Given the description of an element on the screen output the (x, y) to click on. 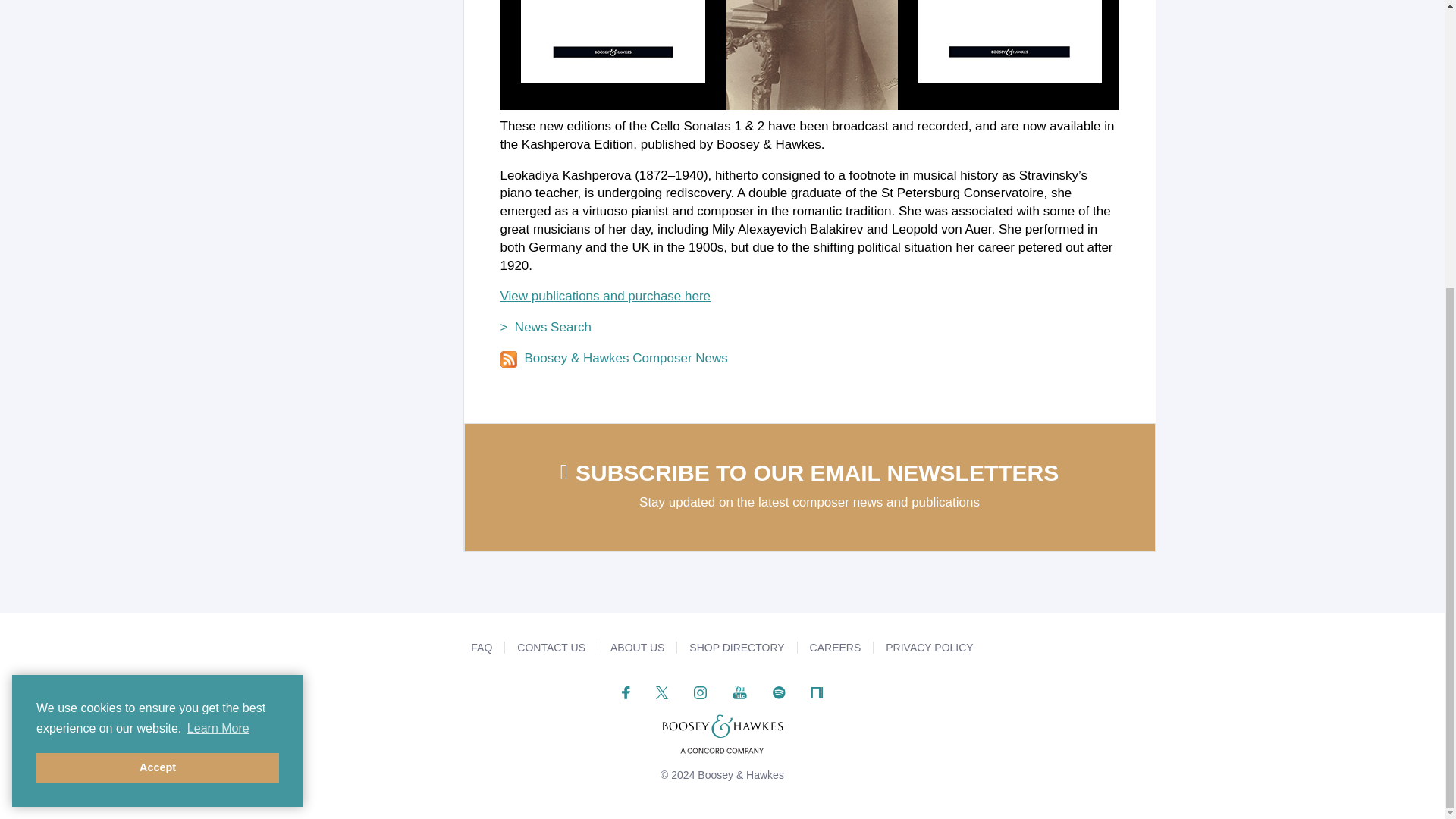
Frequently Asked Questions (481, 647)
Email us (550, 647)
Follow us on Instagram (700, 691)
View Our YouTube Channel (738, 691)
Listen on Spotify (779, 691)
Privacy Policy (928, 647)
Shop Directory (736, 647)
Careers (835, 647)
Follow us on Twitter (662, 691)
Learn More (217, 292)
Accept (157, 331)
